Given the description of an element on the screen output the (x, y) to click on. 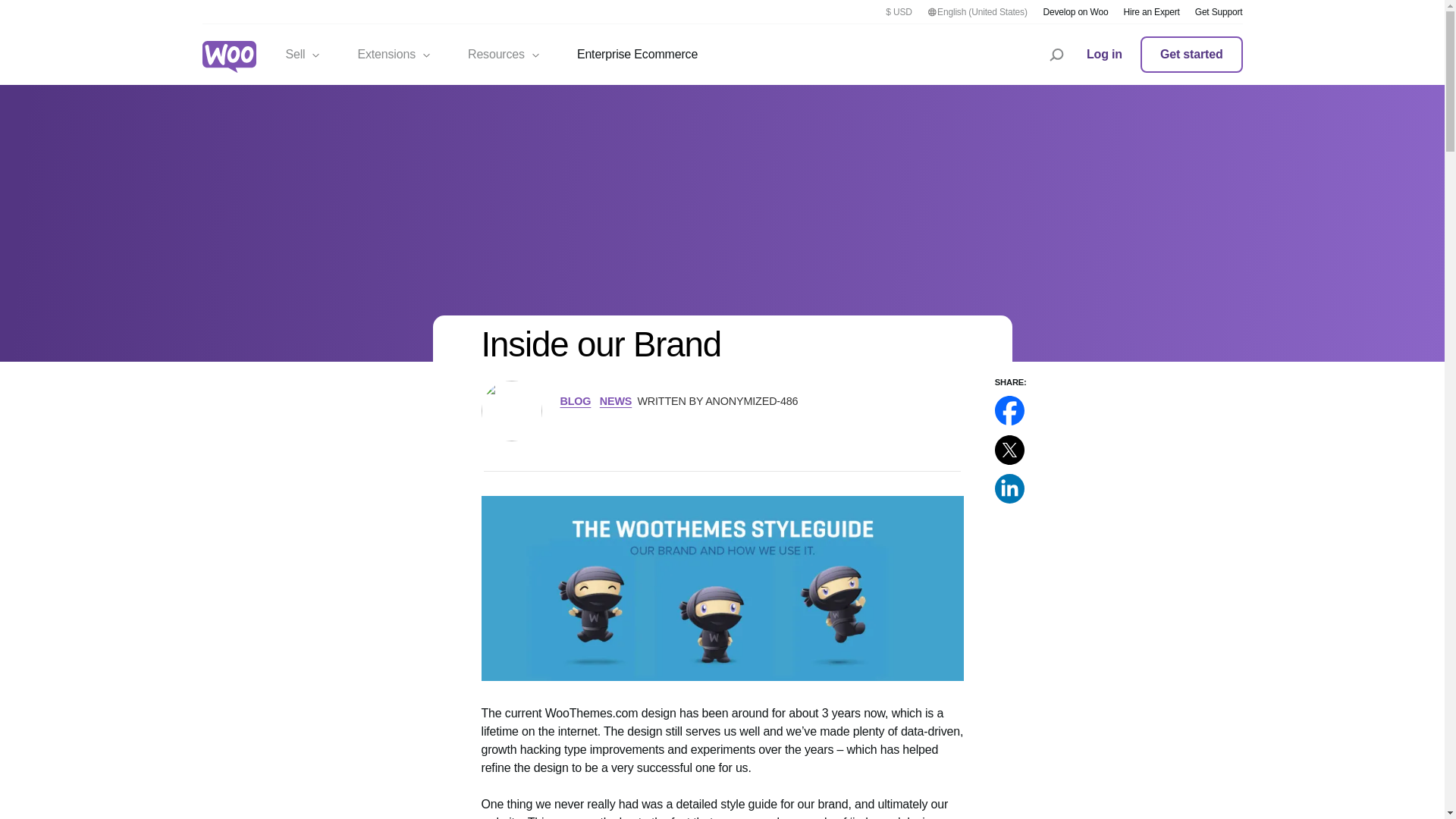
WooCommerce (229, 56)
Hire an Expert (1150, 11)
Click to share on Facebook (1009, 410)
Trusted hosting for your WooCommerce store (1191, 54)
Get Support (1219, 11)
WooCommerce (229, 57)
Develop on Woo (302, 54)
The WooThemes Style Guide (1075, 11)
